Given the description of an element on the screen output the (x, y) to click on. 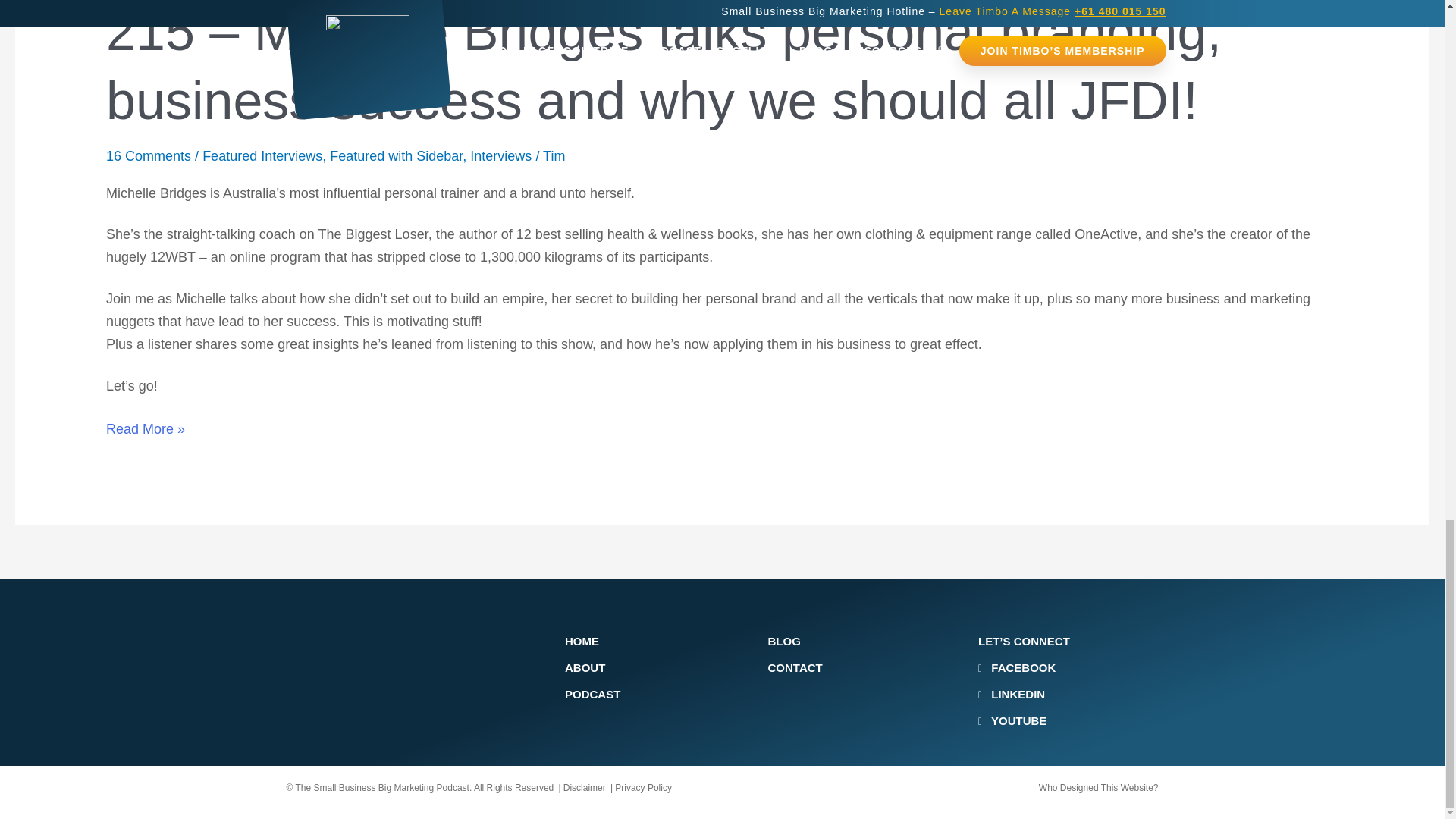
View all posts by Tim (553, 155)
